Given the description of an element on the screen output the (x, y) to click on. 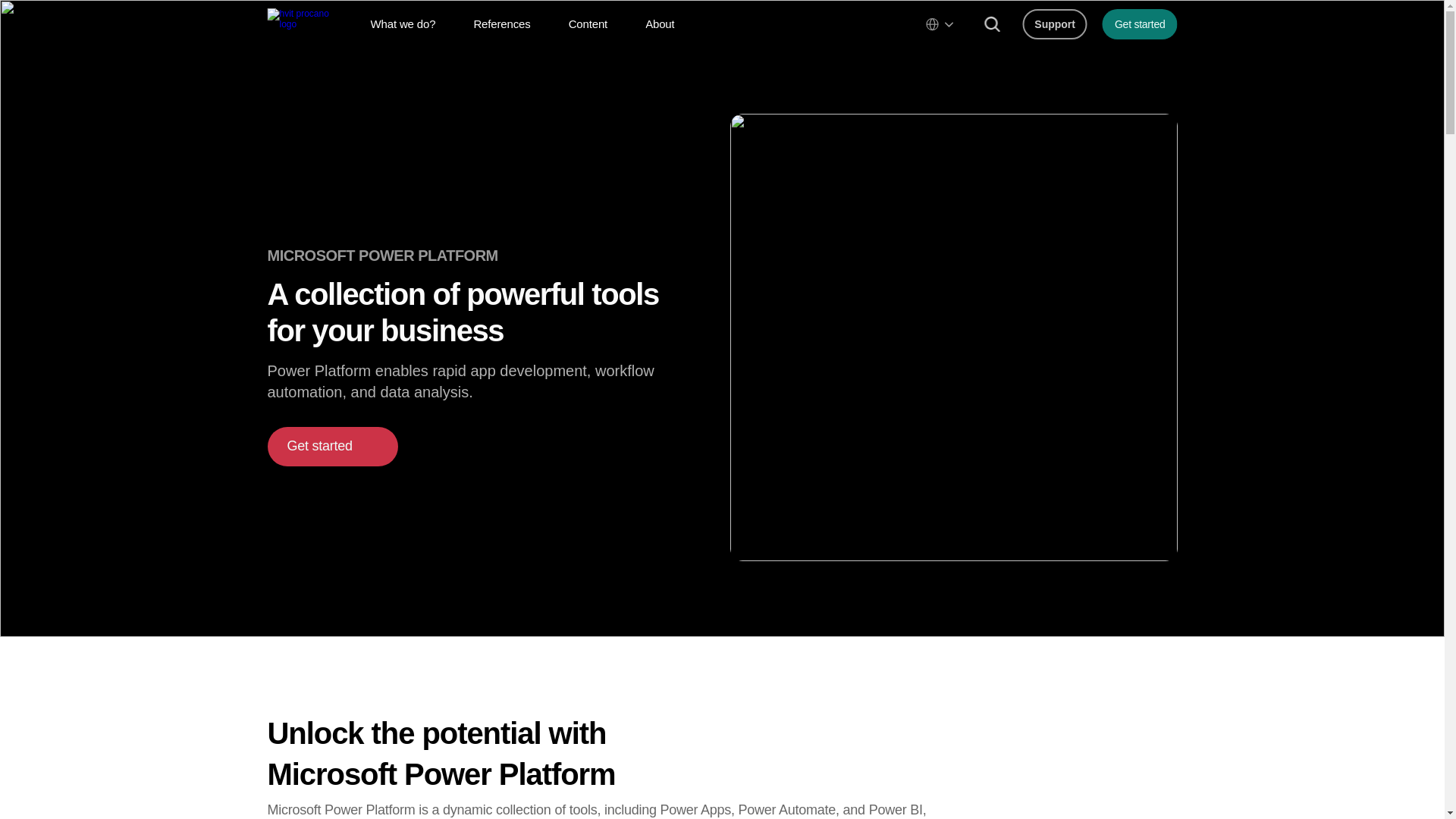
Support (1054, 24)
Get started (331, 446)
Get started (1139, 24)
